Given the description of an element on the screen output the (x, y) to click on. 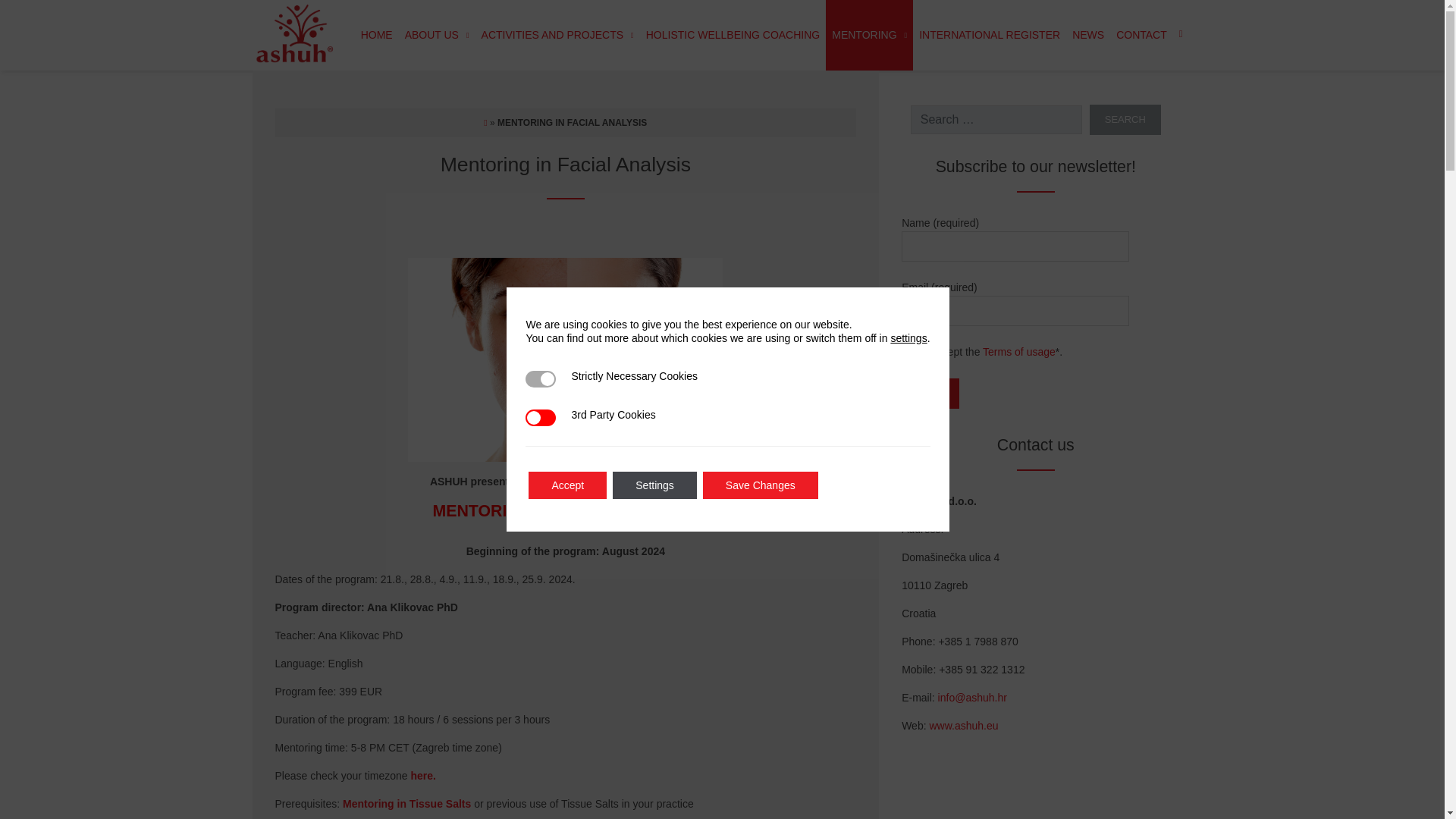
Save Changes (760, 484)
HOLISTIC WELLBEING COACHING (732, 35)
Search (1124, 119)
INTERNATIONAL REGISTER (988, 35)
ABOUT US (437, 35)
CONTACT (1141, 35)
ACTIVITIES AND PROJECTS (558, 35)
Search (1124, 119)
MENTORING (868, 35)
1 (916, 350)
